Given the description of an element on the screen output the (x, y) to click on. 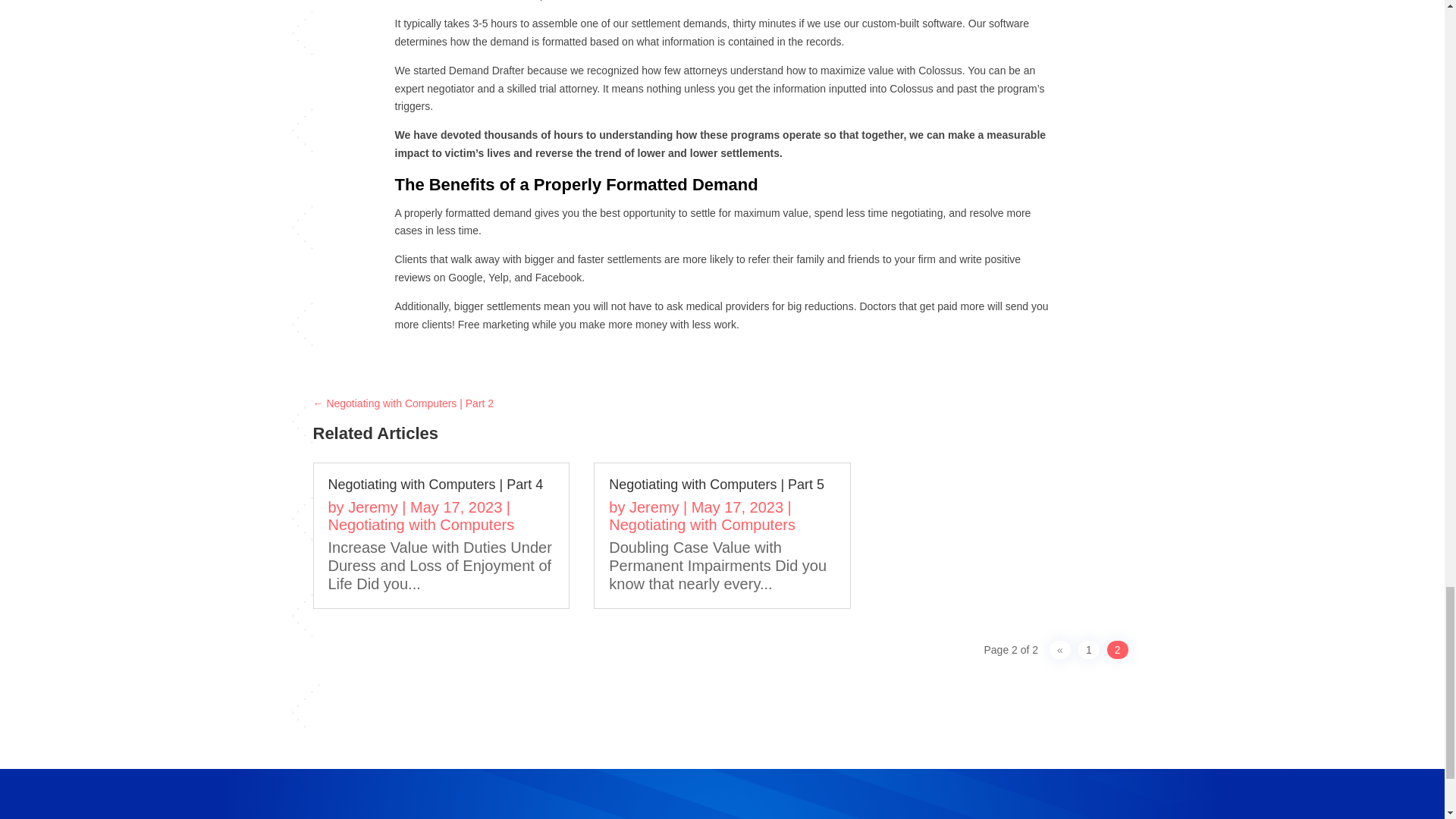
Posts by Jeremy (653, 506)
Page 1 (1088, 648)
Jeremy (372, 506)
Negotiating with Computers (701, 524)
1 (1088, 648)
Jeremy (653, 506)
Posts by Jeremy (372, 506)
Negotiating with Computers (420, 524)
